Given the description of an element on the screen output the (x, y) to click on. 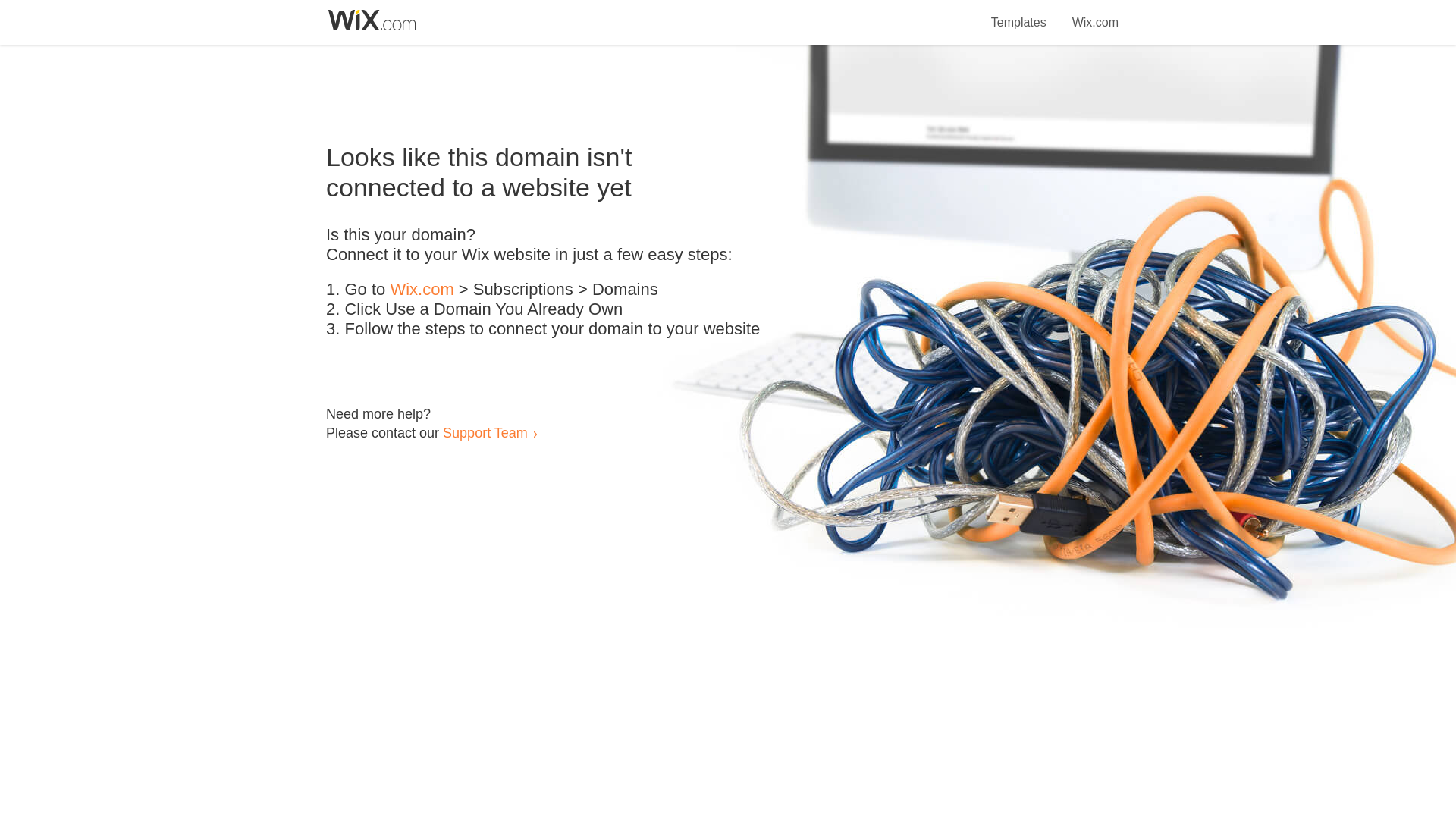
Wix.com (421, 289)
Templates (1018, 14)
Wix.com (1095, 14)
Support Team (484, 432)
